Given the description of an element on the screen output the (x, y) to click on. 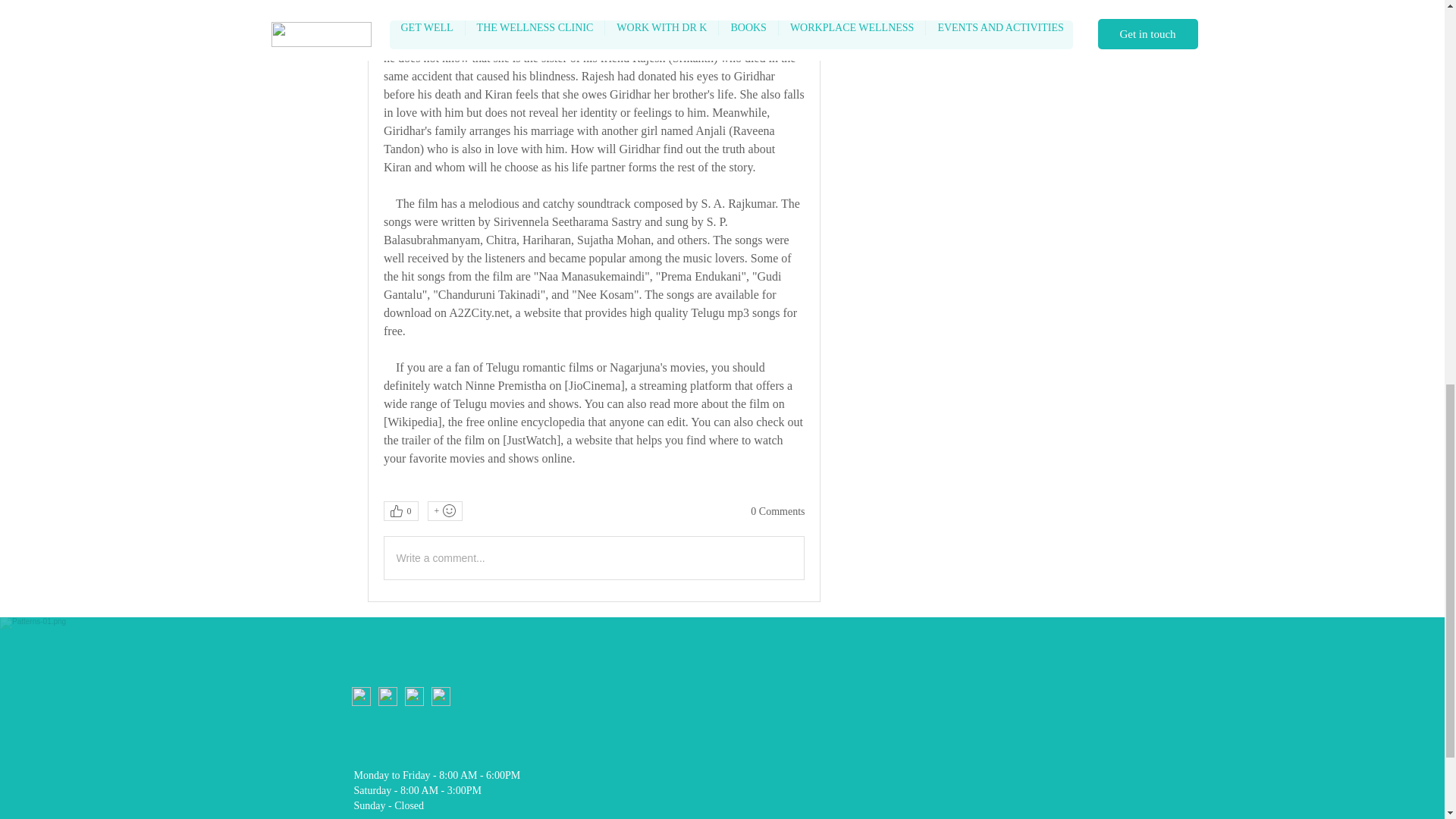
0 Comments (778, 511)
Write a comment... (593, 558)
